Given the description of an element on the screen output the (x, y) to click on. 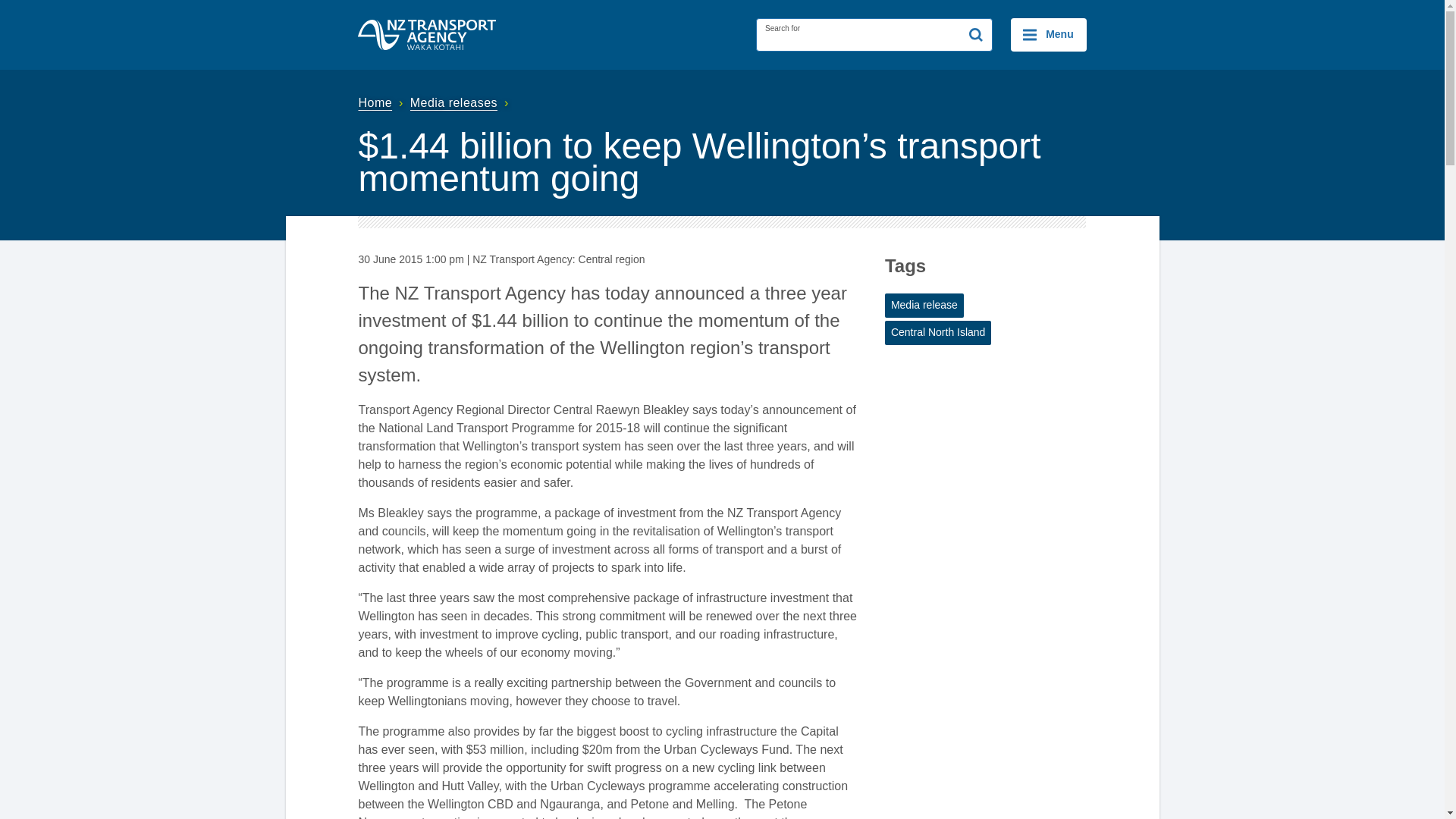
NZ Transport Agency Waka Kotahi (427, 34)
View all posts tagged 'Media release' (924, 305)
View all posts tagged 'Central North Island' (938, 332)
Home (382, 102)
Menu (1048, 34)
